Given the description of an element on the screen output the (x, y) to click on. 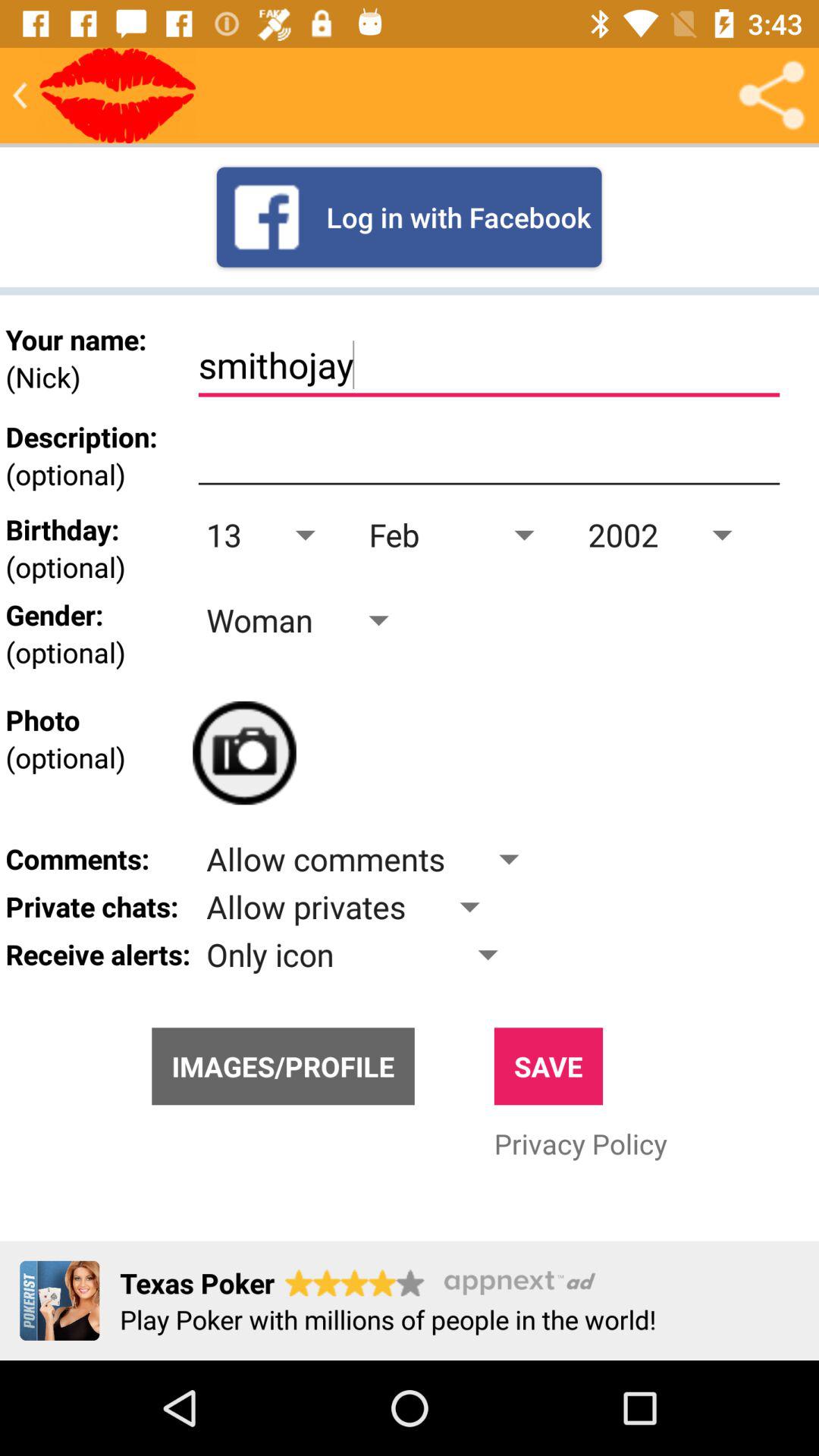
upload image (244, 752)
